Given the description of an element on the screen output the (x, y) to click on. 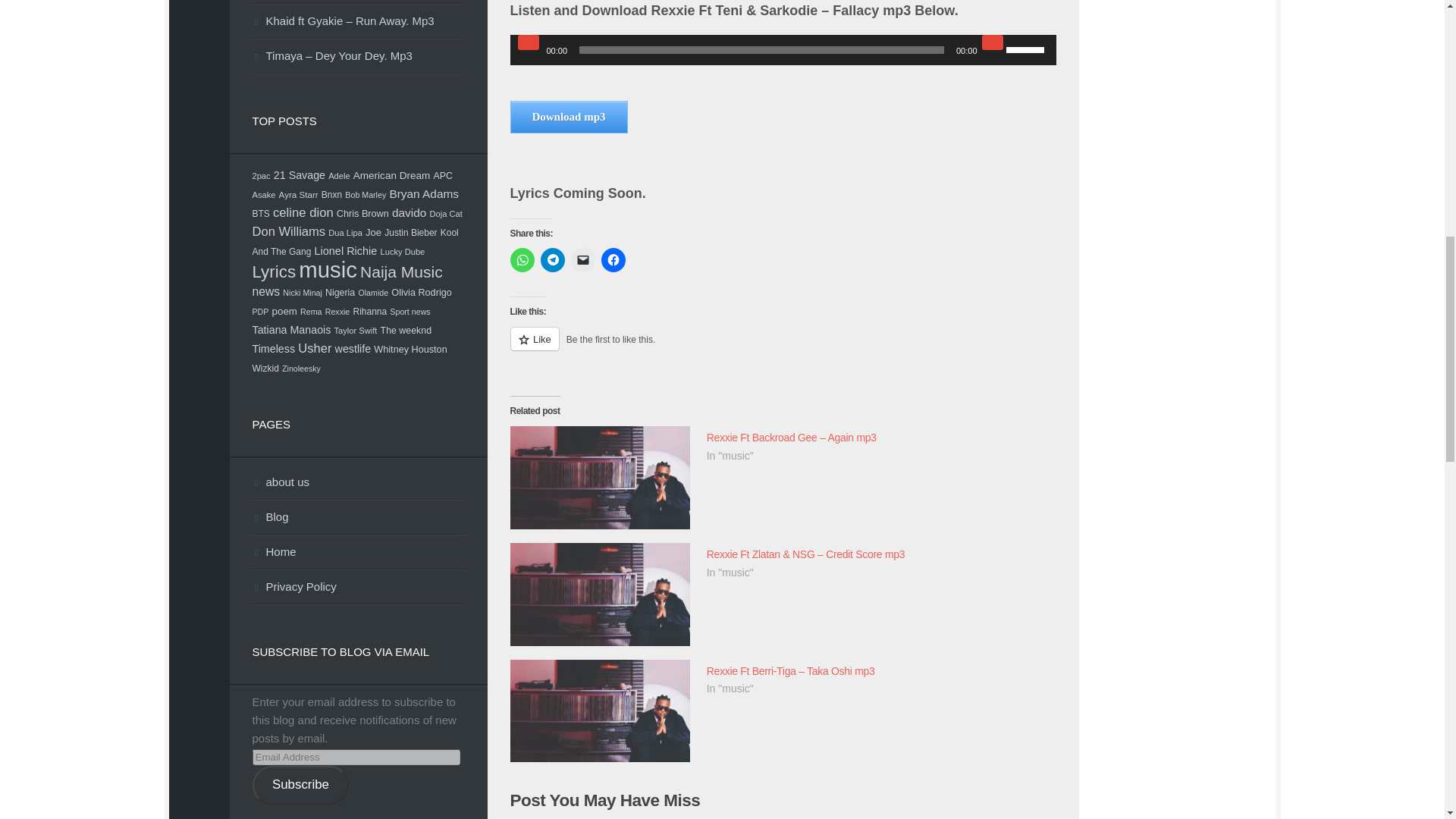
Click to share on Telegram (552, 259)
Mute (992, 42)
Click to share on Facebook (611, 259)
Play (527, 42)
Click to email a link to a friend (582, 259)
Download mp3 (568, 116)
Click to share on WhatsApp (521, 259)
Like or Reblog (782, 347)
